Given the description of an element on the screen output the (x, y) to click on. 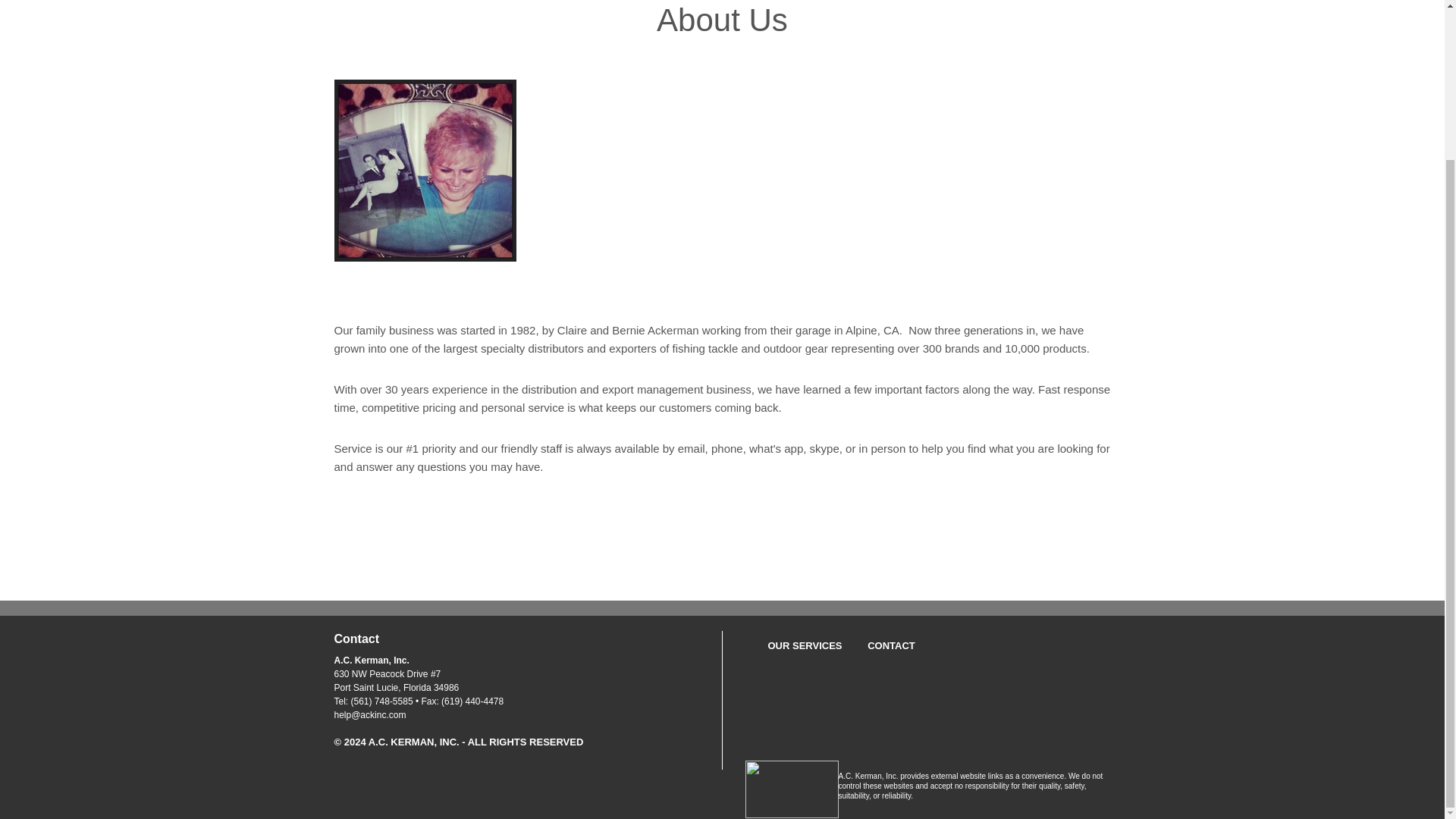
OUR SERVICES (804, 645)
Contact (355, 638)
CONTACT (891, 645)
